Given the description of an element on the screen output the (x, y) to click on. 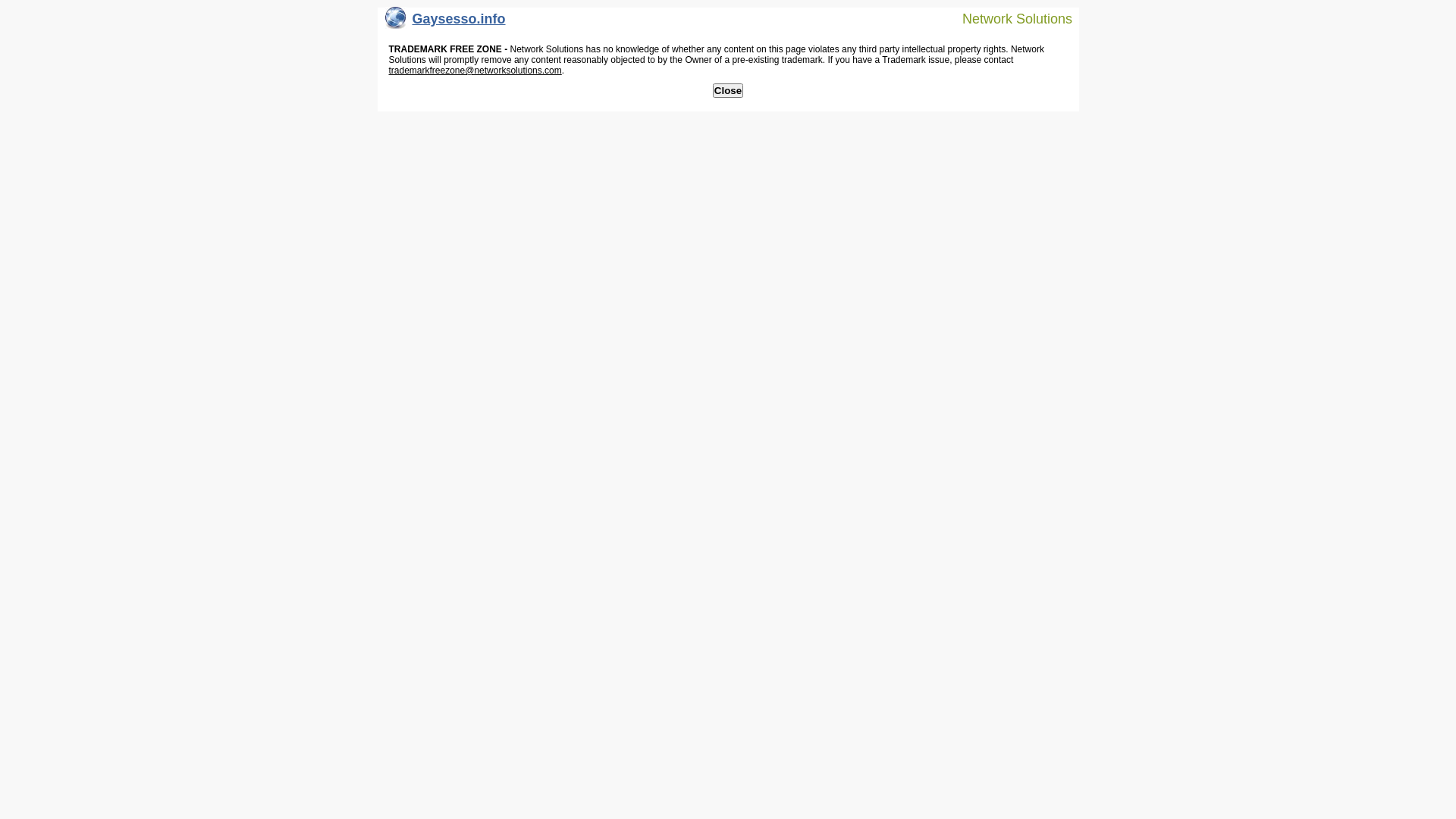
trademarkfreezone@networksolutions.com Element type: text (474, 70)
Gaysesso.info Element type: text (445, 21)
Network Solutions Element type: text (1007, 17)
Close Element type: text (727, 90)
